Given the description of an element on the screen output the (x, y) to click on. 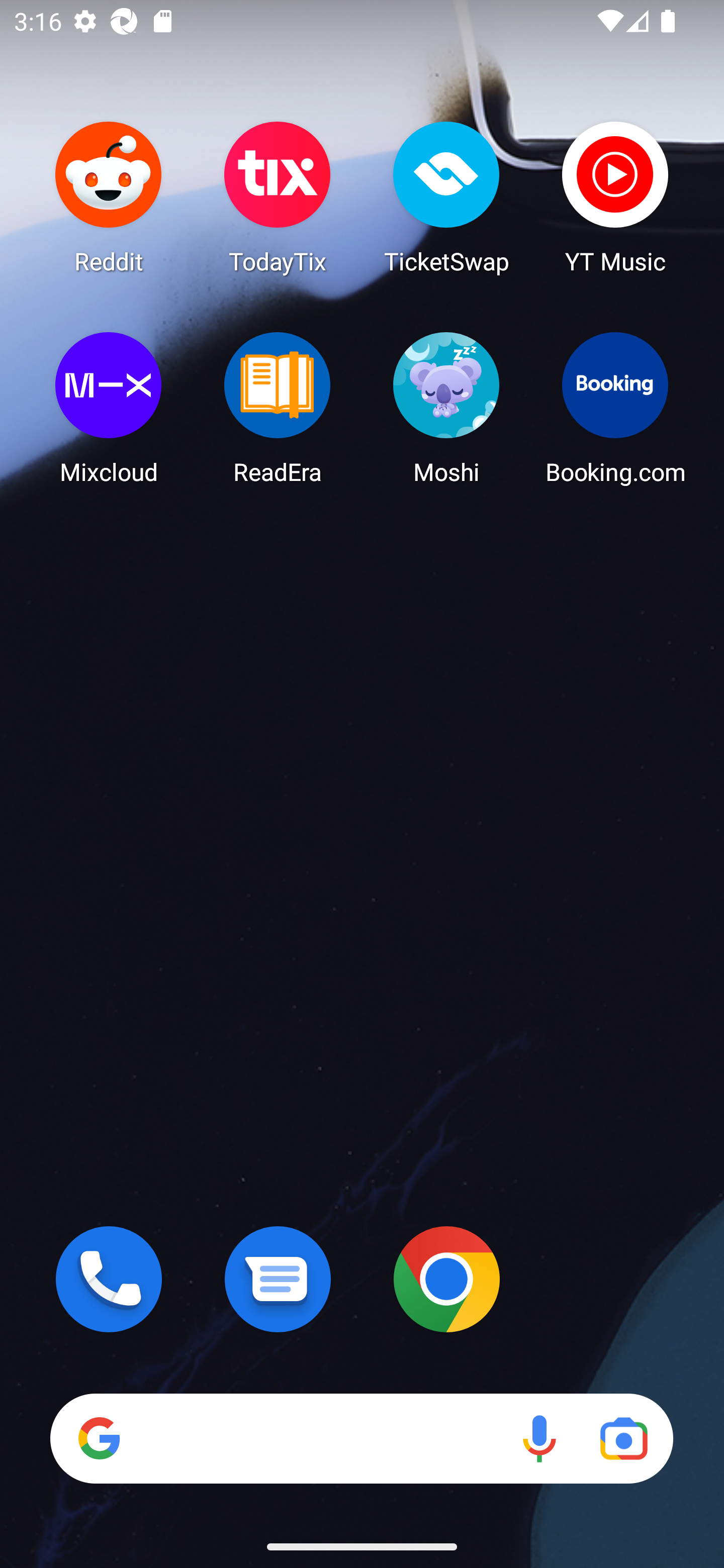
Reddit (108, 196)
TodayTix (277, 196)
TicketSwap (445, 196)
YT Music (615, 196)
Mixcloud (108, 407)
ReadEra (277, 407)
Moshi (445, 407)
Booking.com (615, 407)
Phone (108, 1279)
Messages (277, 1279)
Chrome (446, 1279)
Search Voice search Google Lens (361, 1438)
Voice search (539, 1438)
Google Lens (623, 1438)
